Given the description of an element on the screen output the (x, y) to click on. 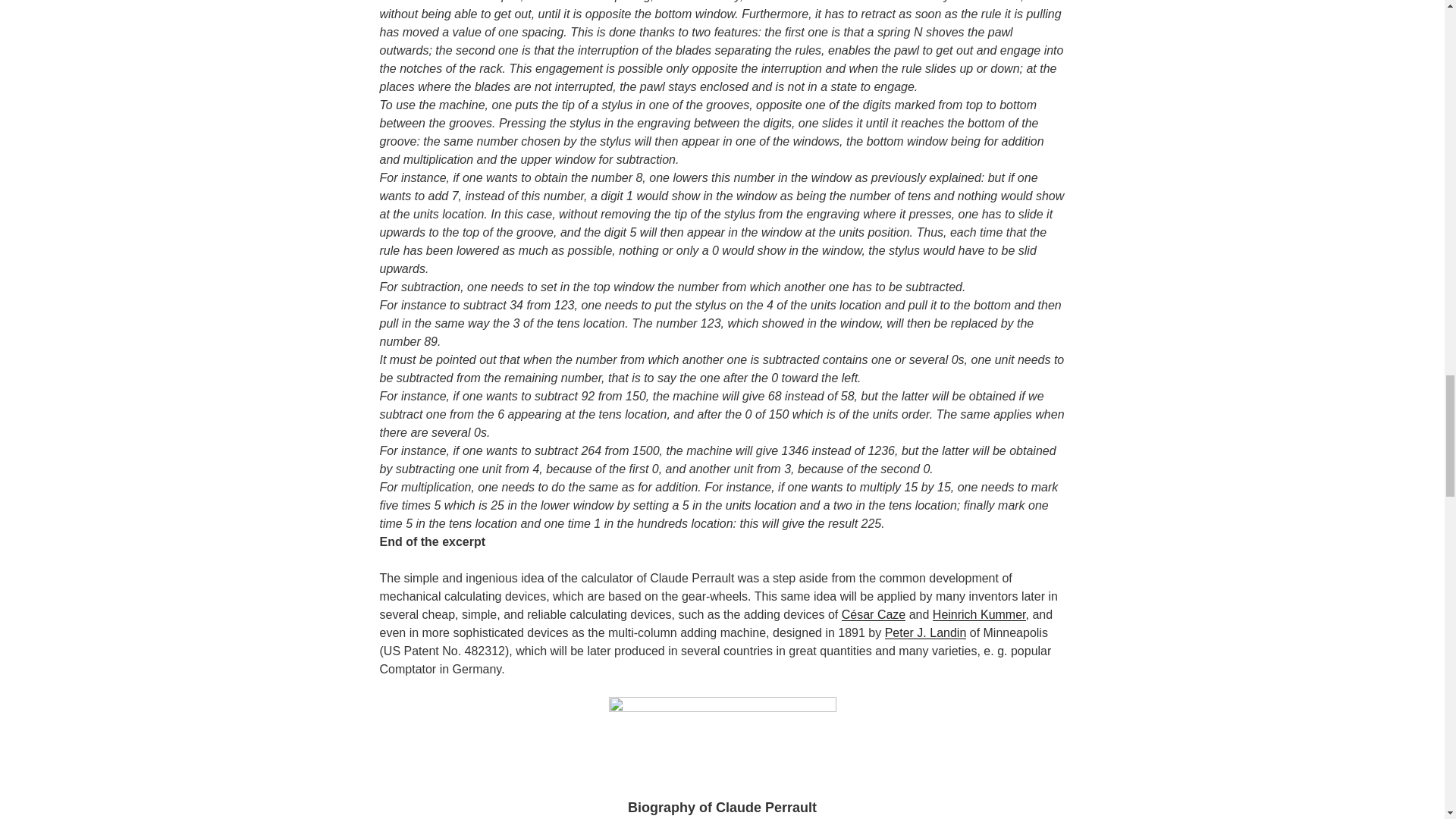
Peter J. Landin (925, 632)
Heinrich Kummer (979, 614)
